Given the description of an element on the screen output the (x, y) to click on. 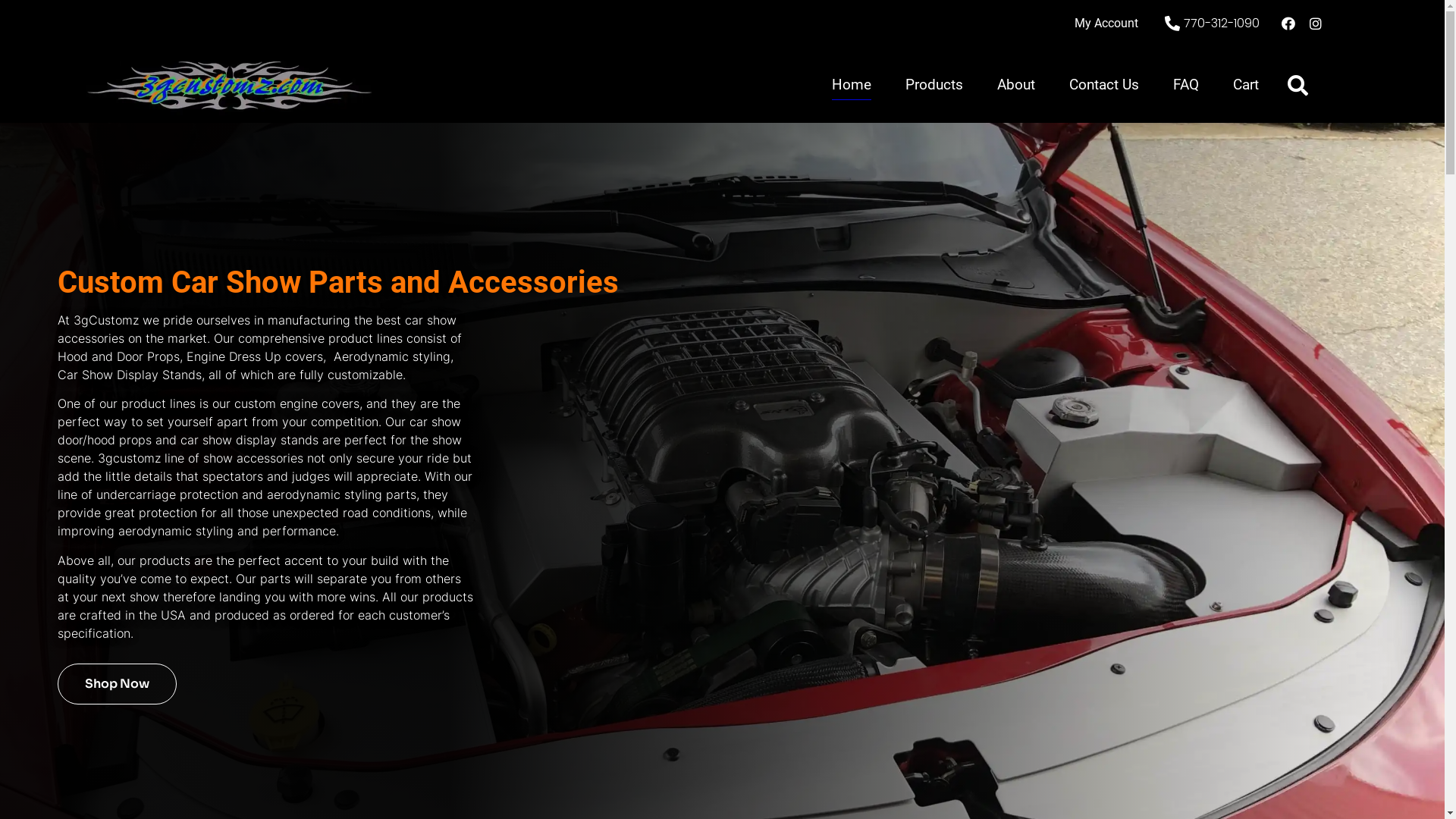
FAQ Element type: text (1185, 84)
Shop Now Element type: text (116, 683)
Home Element type: text (851, 84)
My Account Element type: text (1106, 23)
Contact Us Element type: text (1104, 84)
About Element type: text (1016, 84)
770-312-1090 Element type: text (1210, 23)
Cart Element type: text (1245, 84)
Products Element type: text (934, 84)
